Given the description of an element on the screen output the (x, y) to click on. 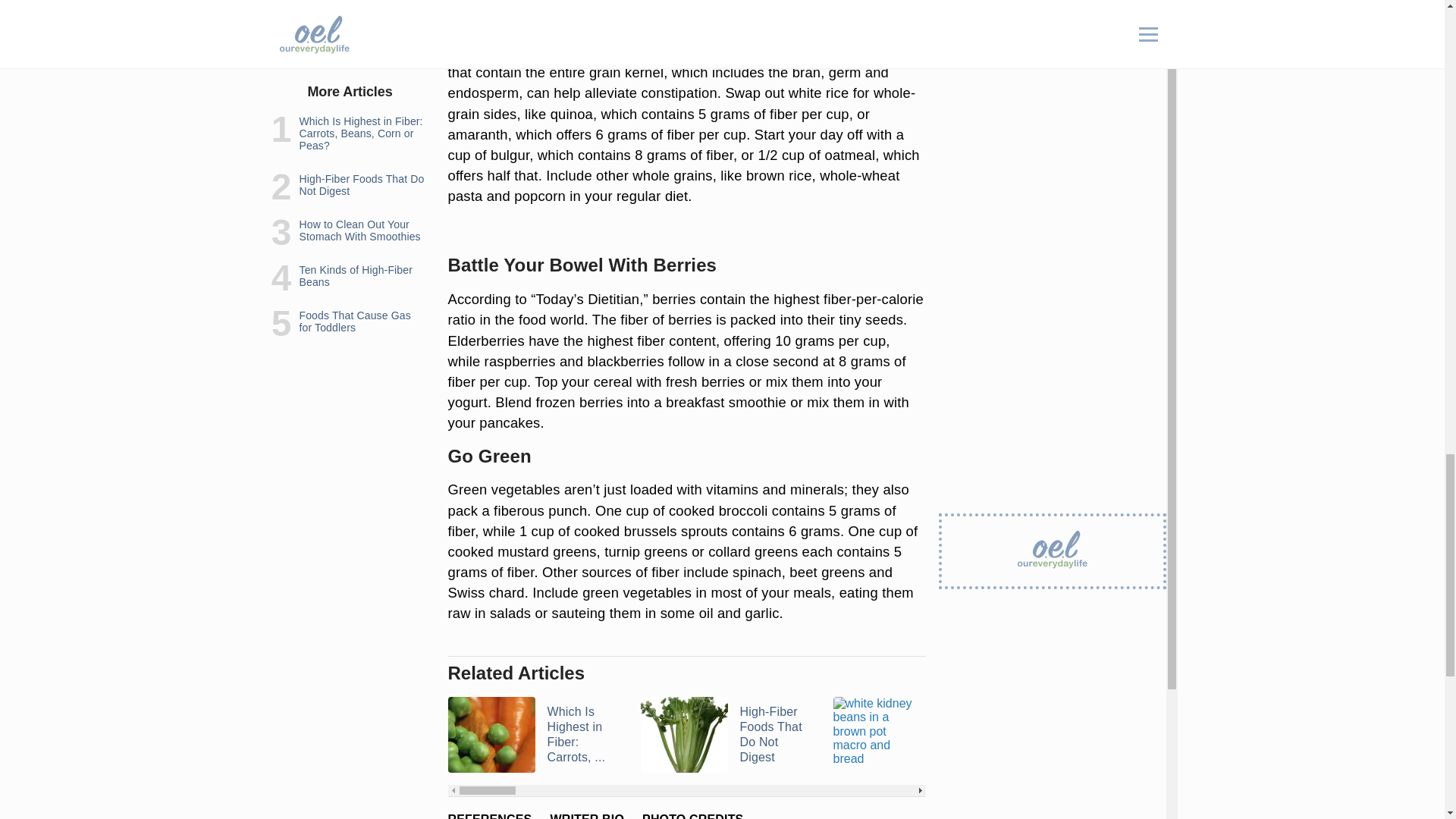
How to Clean Out Your Stomach With ... (919, 734)
High-Fiber Foods That Do Not Digest (726, 734)
Advertisement (685, 14)
Ten Kinds of High-Fiber Beans (1112, 734)
Which Is Highest in Fiber: Carrots, ... (533, 734)
Foods That Cause Gas for Toddlers (1304, 734)
